Given the description of an element on the screen output the (x, y) to click on. 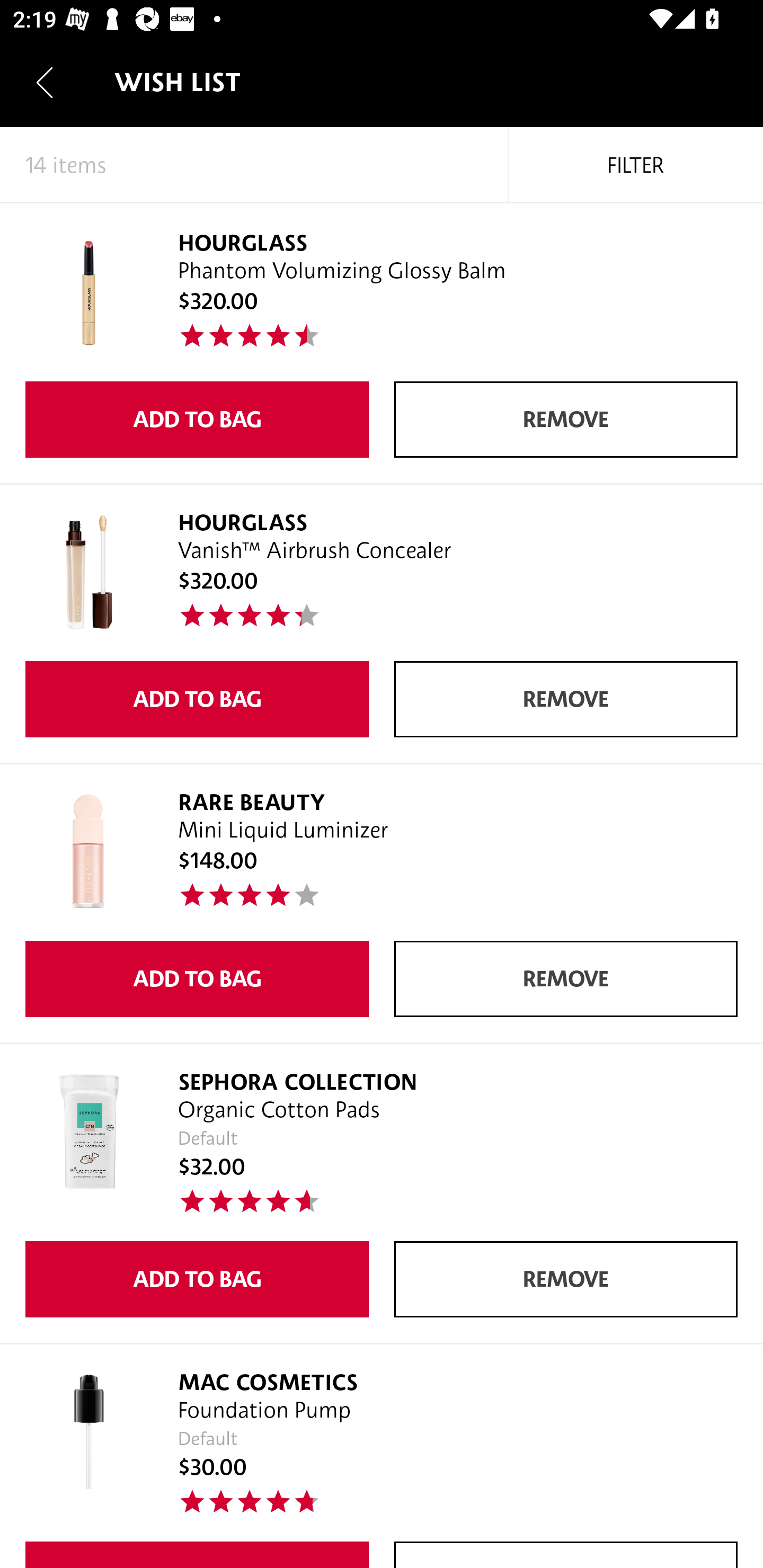
Navigate up (44, 82)
FILTER (635, 165)
ADD TO BAG (196, 419)
REMOVE (565, 419)
ADD TO BAG (196, 698)
REMOVE (565, 698)
ADD TO BAG (196, 978)
REMOVE (565, 978)
ADD TO BAG (196, 1279)
REMOVE (565, 1279)
